Given the description of an element on the screen output the (x, y) to click on. 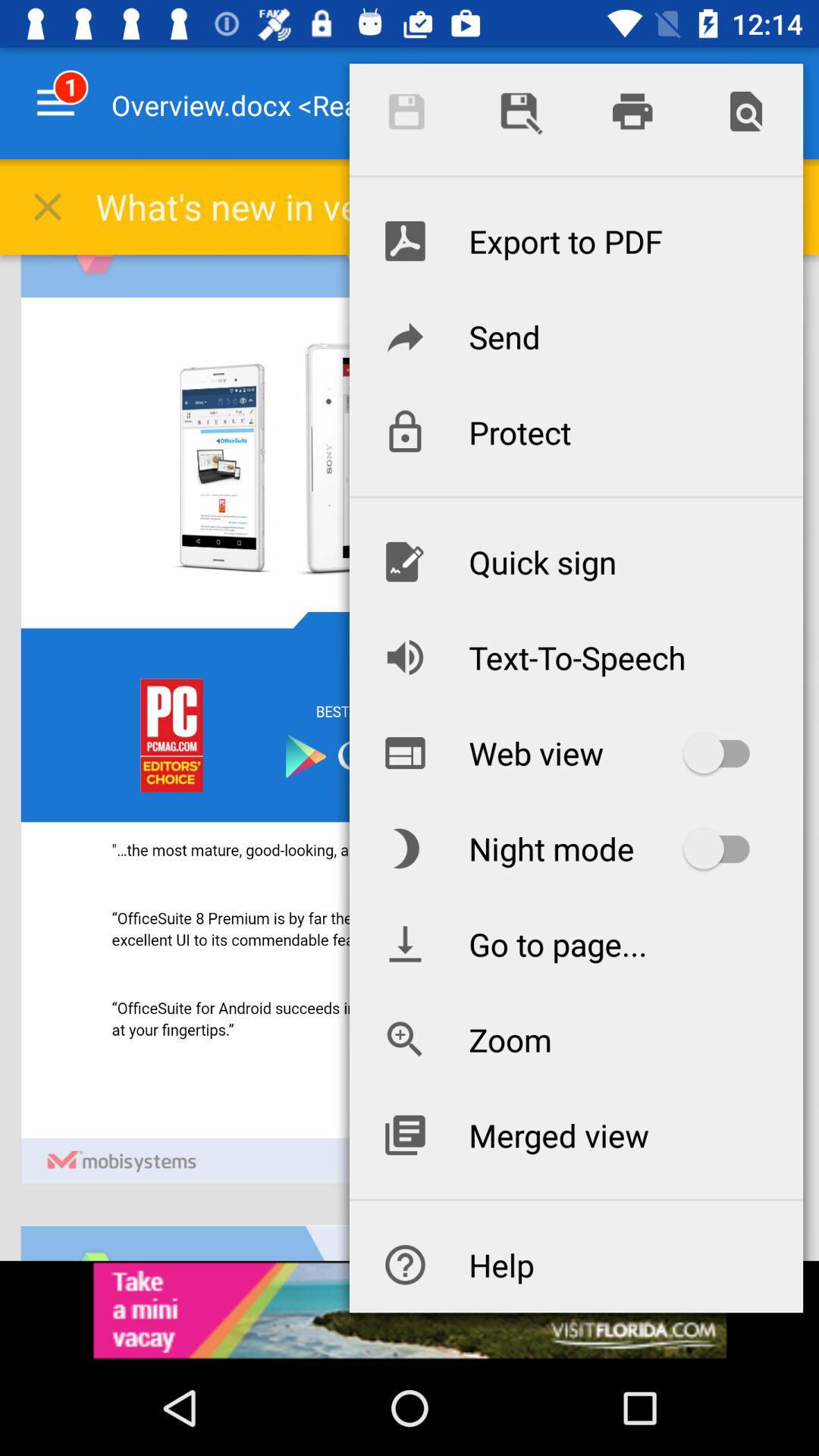
open the go to page... item (576, 943)
